Given the description of an element on the screen output the (x, y) to click on. 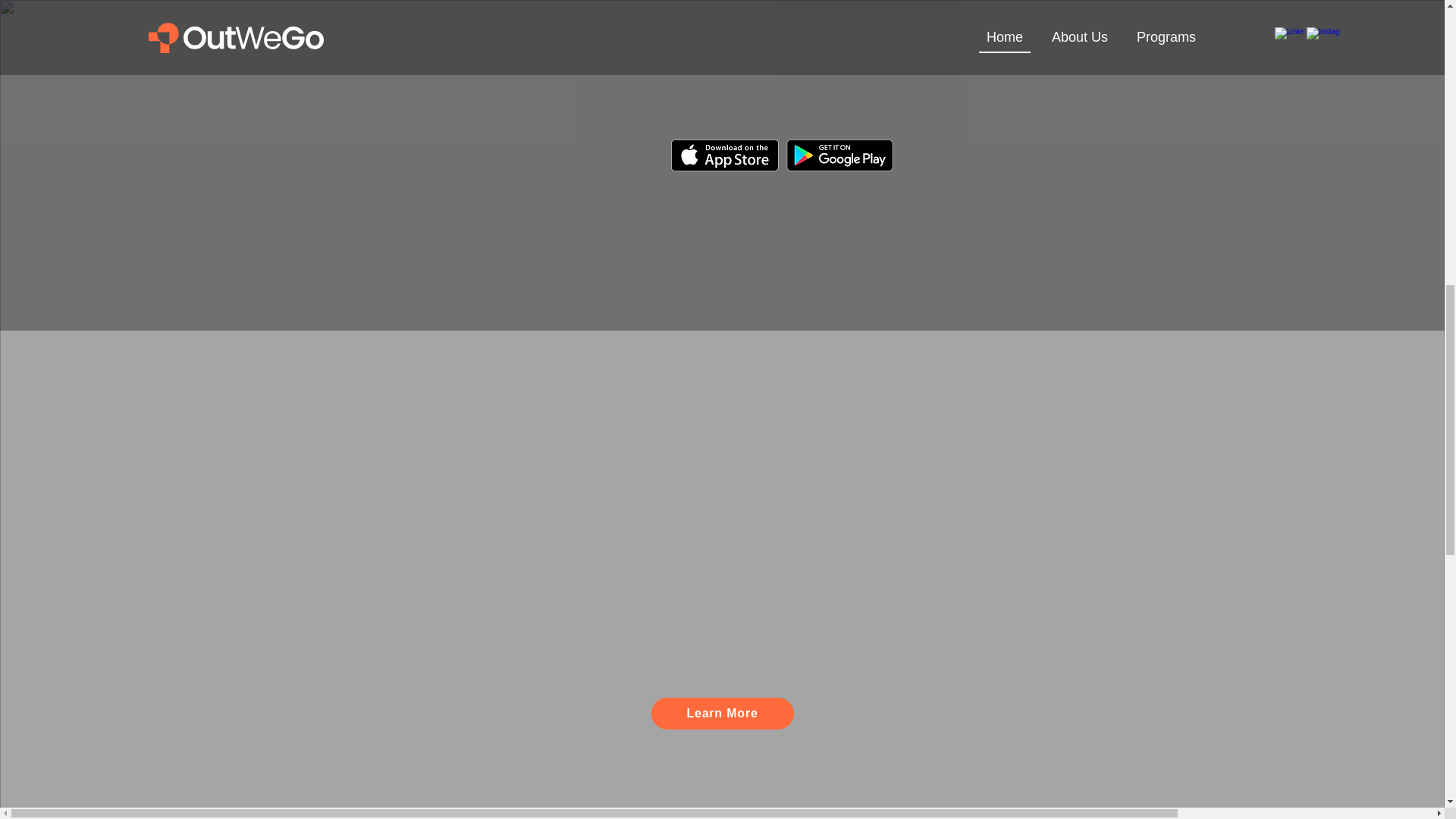
Profile (458, 127)
Learn More (721, 713)
